Given the description of an element on the screen output the (x, y) to click on. 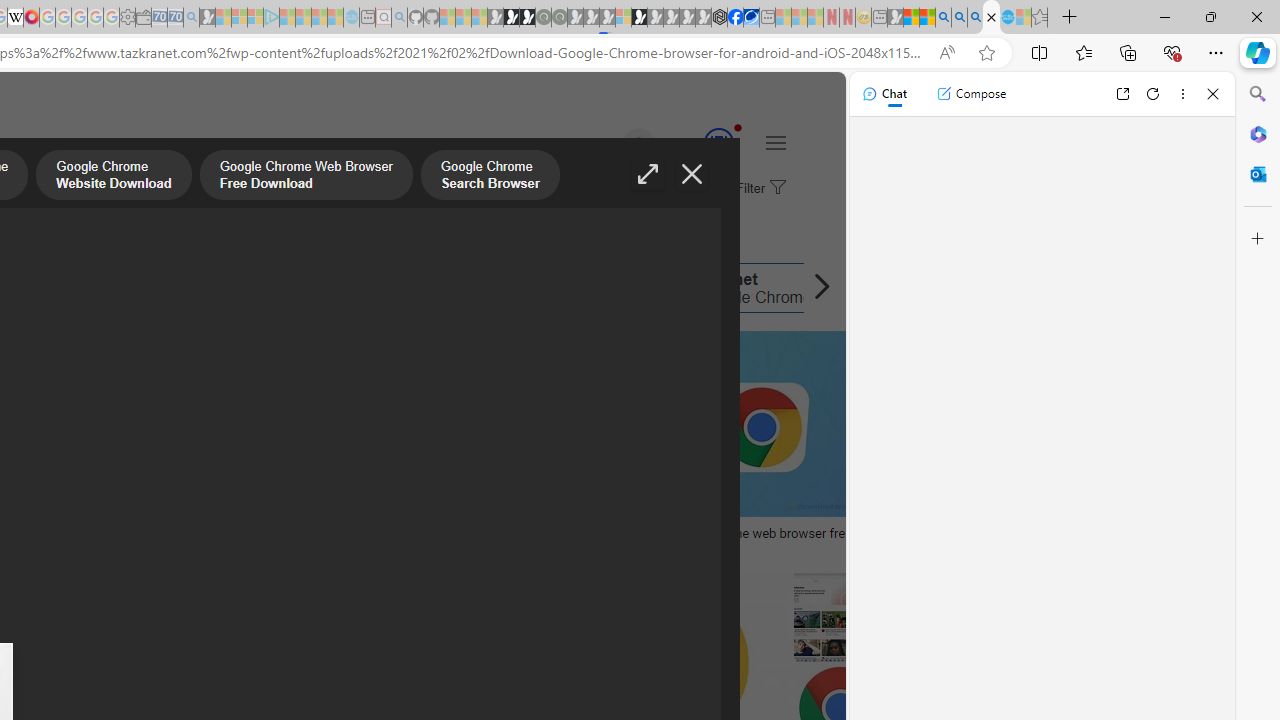
MediaWiki (31, 17)
Google Chrome Web Browser Free Download (305, 177)
Image result for Google Chrome Internet Browser Download (838, 617)
Close image (692, 173)
